Given the description of an element on the screen output the (x, y) to click on. 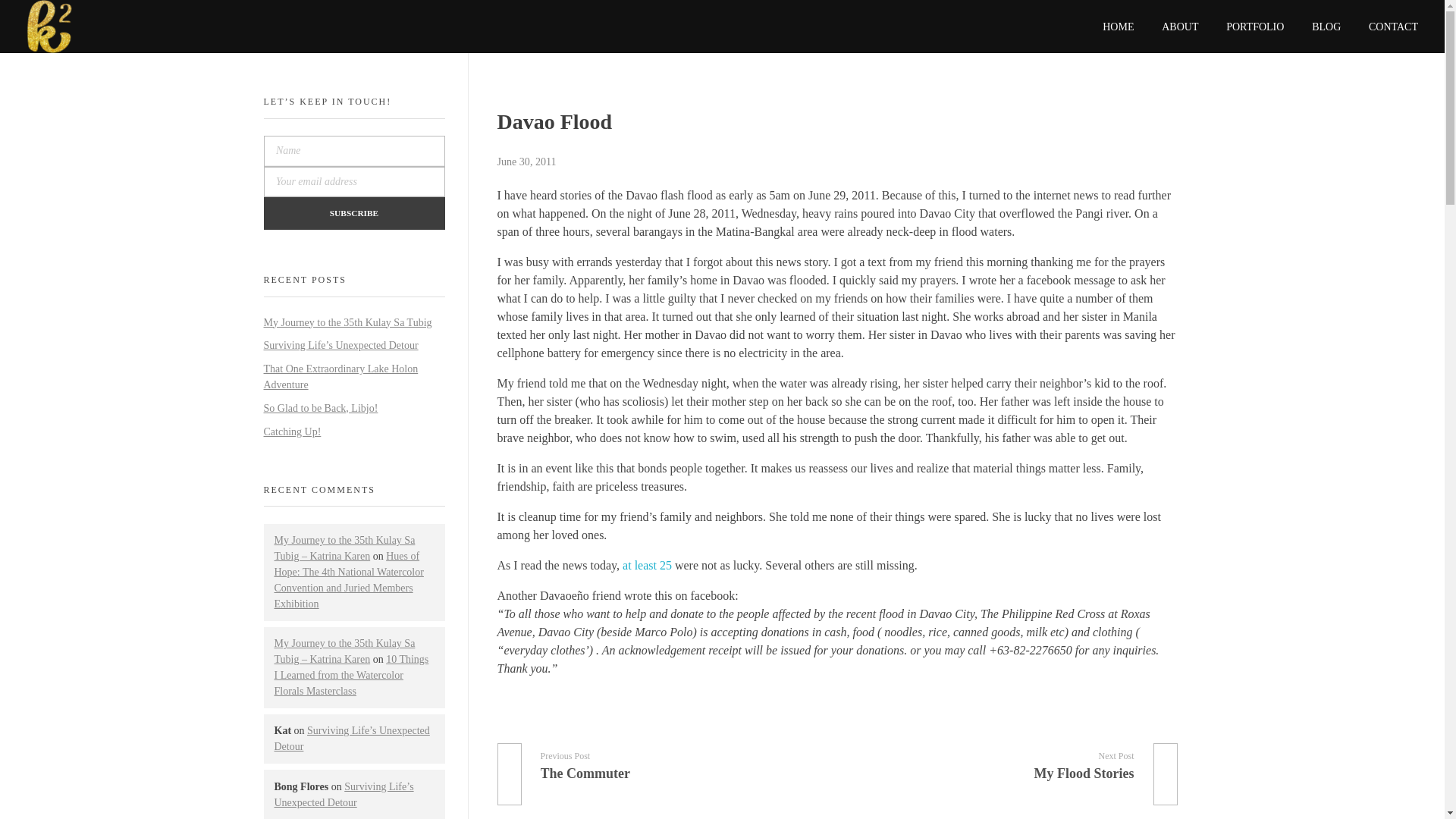
Subscribe (354, 213)
Subscribe (1012, 762)
PORTFOLIO (354, 213)
CONTACT (1255, 14)
at least 25 (1386, 18)
That One Extraordinary Lake Holon Adventure (647, 564)
So Glad to be Back, Libjo! (341, 376)
BLOG (320, 408)
